Given the description of an element on the screen output the (x, y) to click on. 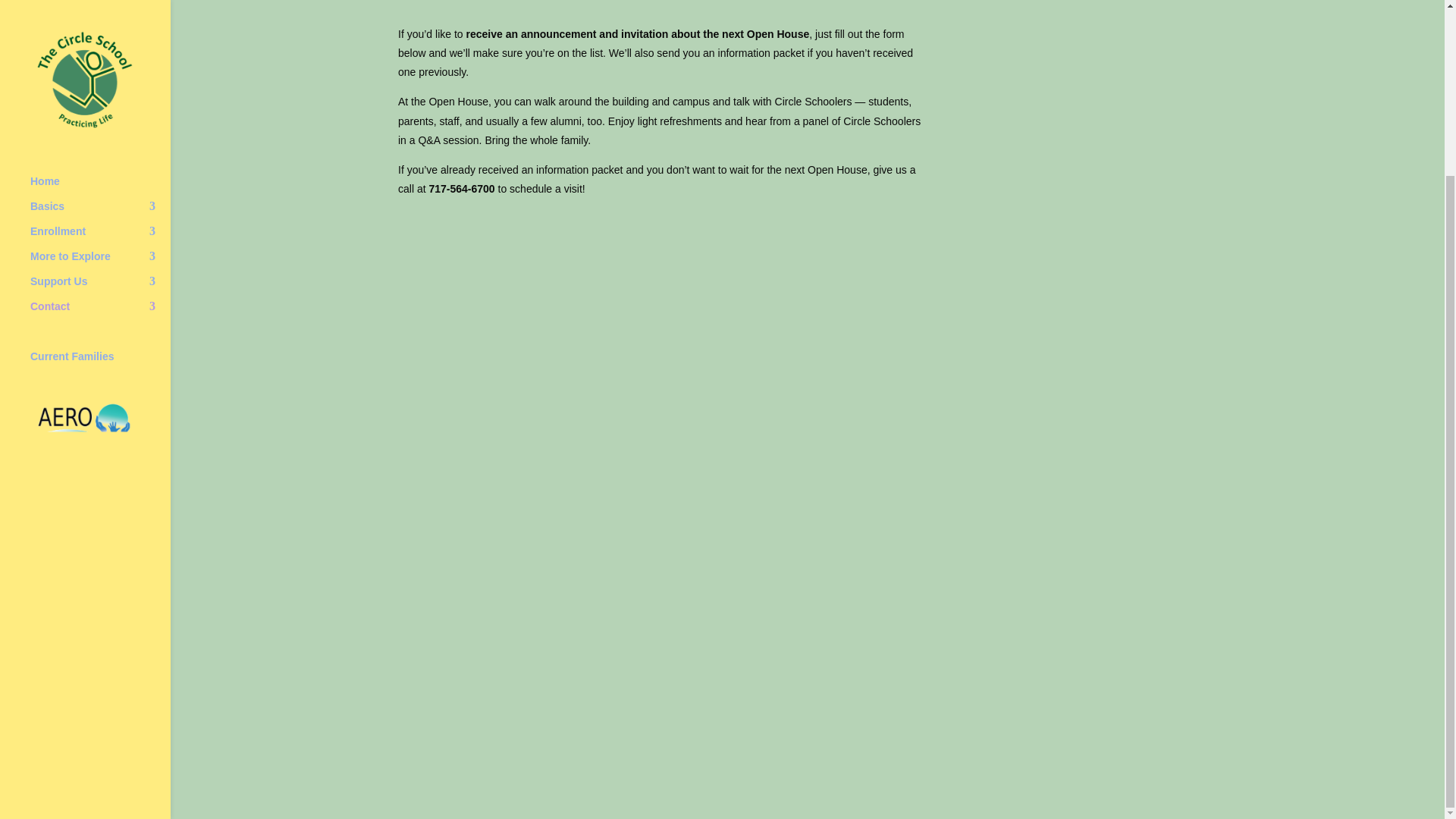
Contact (100, 98)
More to Explore (100, 48)
Support Us (100, 74)
Current Families (100, 148)
Enrollment (100, 24)
Basics (100, 5)
